Given the description of an element on the screen output the (x, y) to click on. 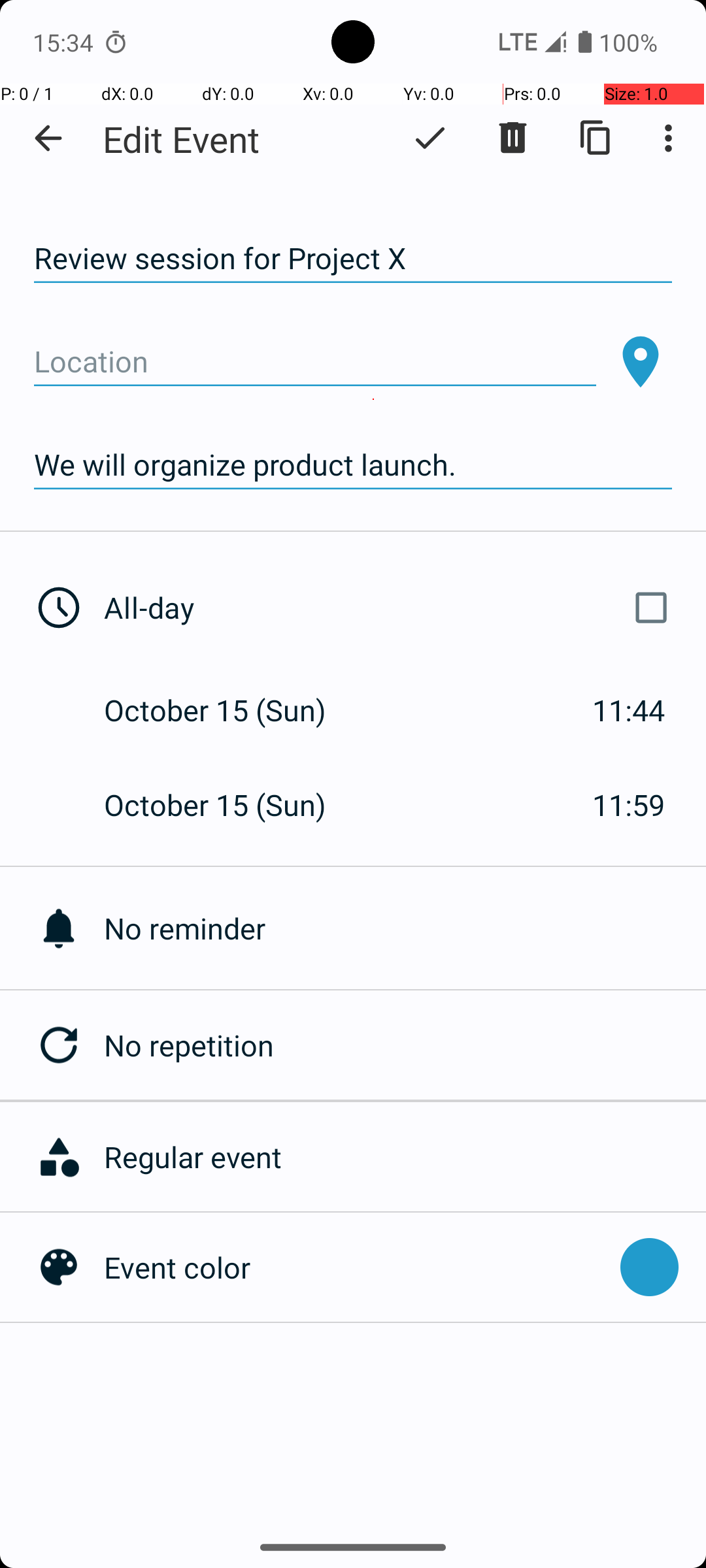
We will organize product launch. Element type: android.widget.EditText (352, 465)
11:44 Element type: android.widget.TextView (628, 709)
11:59 Element type: android.widget.TextView (628, 804)
